Given the description of an element on the screen output the (x, y) to click on. 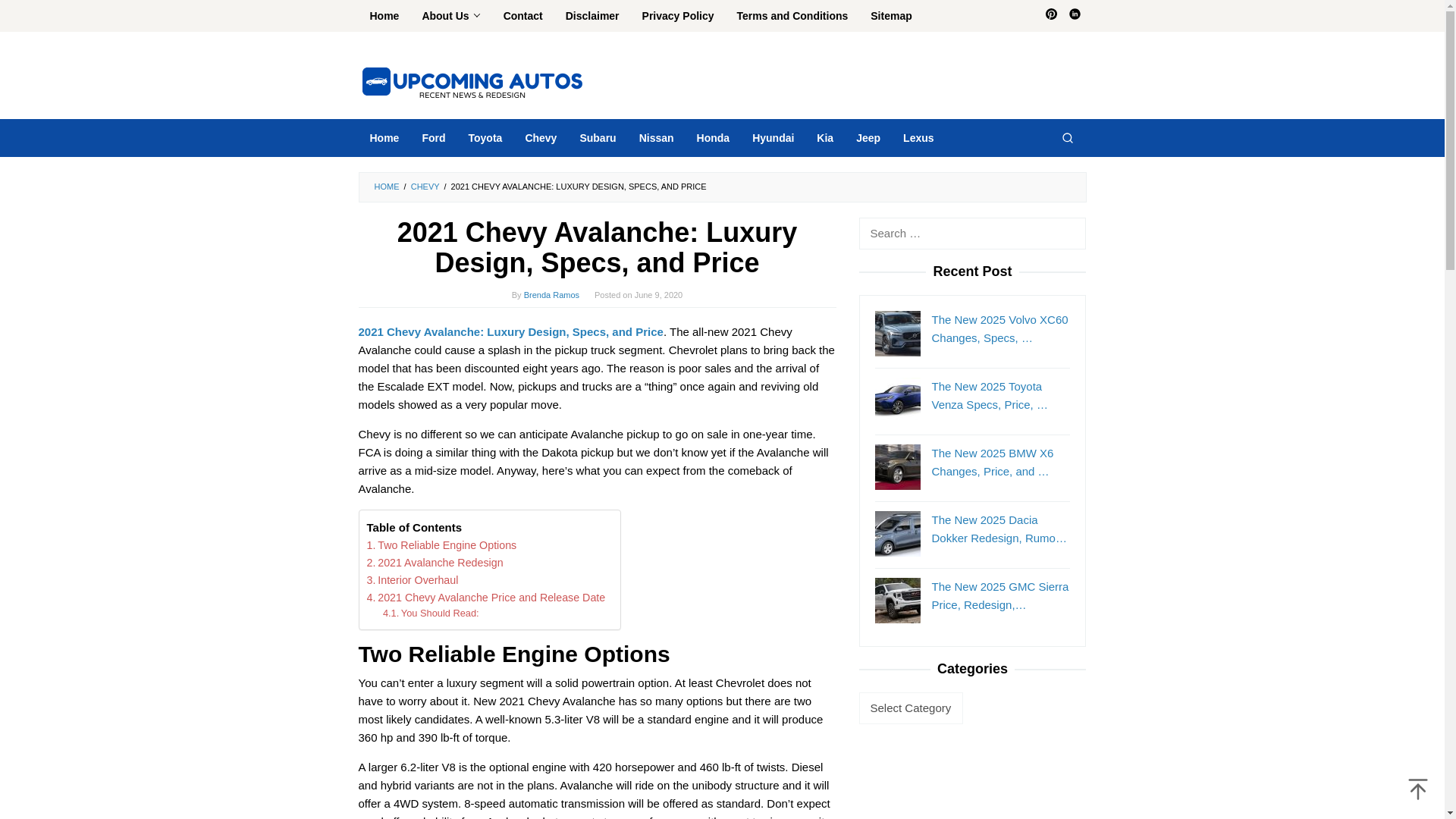
Lexus (917, 137)
About Us (451, 15)
Brenda Ramos (551, 294)
Upcoming Autos (471, 79)
Interior Overhaul (412, 579)
2021 Chevy Avalanche: Luxury Design, Specs, and Price (510, 331)
Ford (433, 137)
Terms and Conditions (792, 15)
CHEVY (424, 185)
Two Reliable Engine Options (441, 545)
You Should Read: (430, 613)
Jeep (867, 137)
Disclaimer (592, 15)
Contact (523, 15)
Home (384, 137)
